Given the description of an element on the screen output the (x, y) to click on. 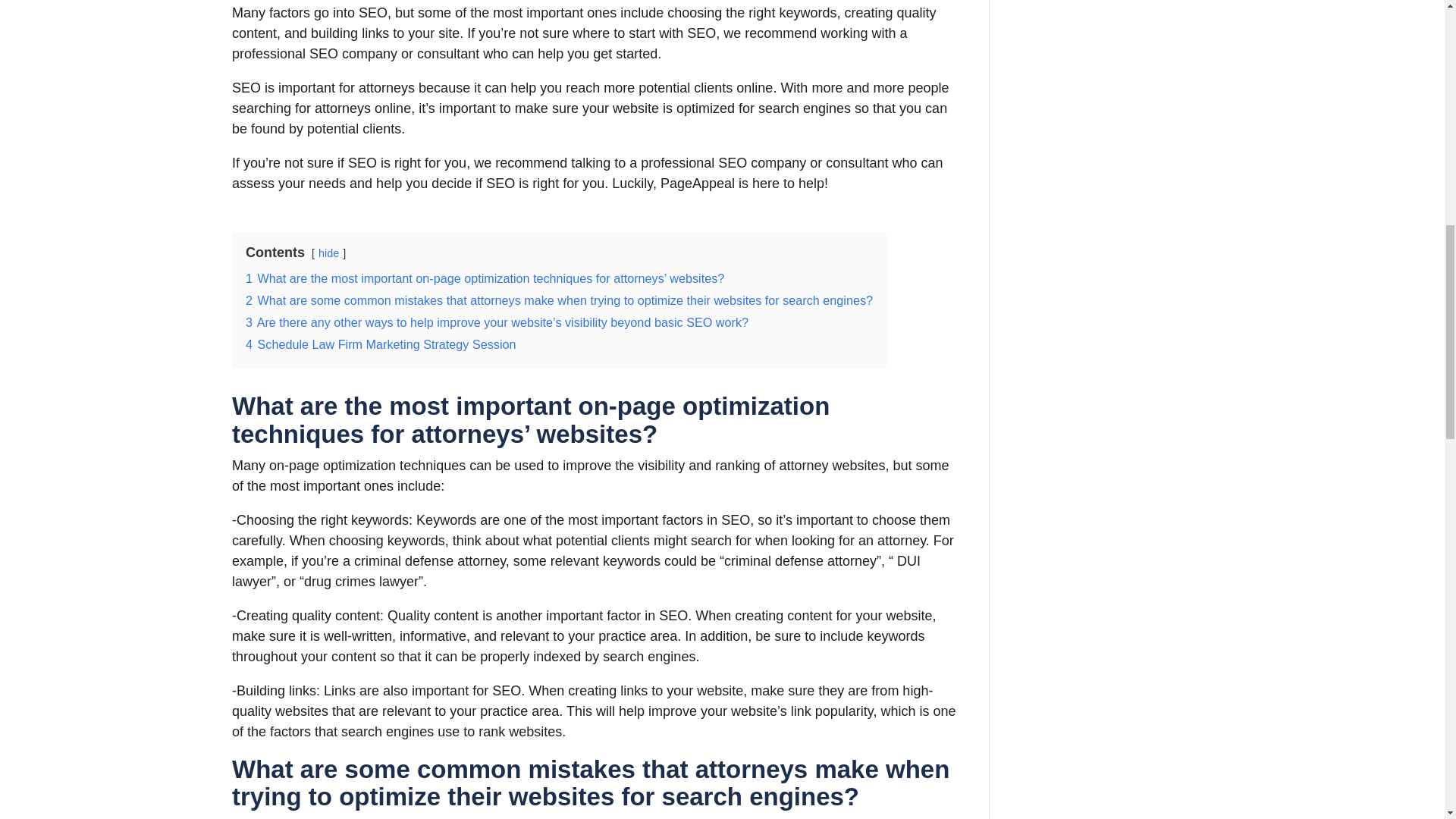
4 Schedule Law Firm Marketing Strategy Session (381, 344)
hide (328, 253)
